Given the description of an element on the screen output the (x, y) to click on. 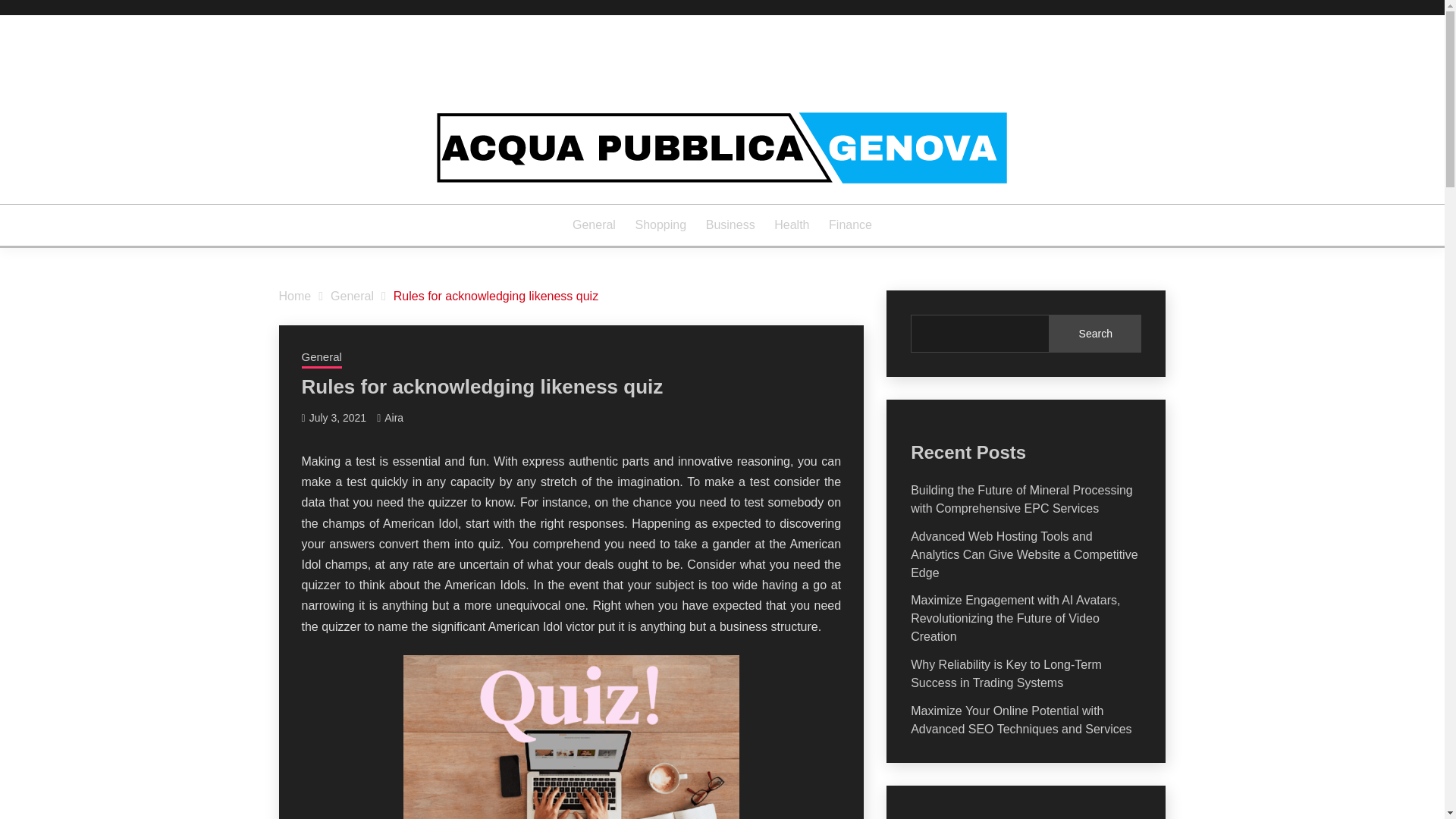
General (321, 358)
July 3, 2021 (337, 417)
General (593, 225)
Home (295, 295)
Shopping (660, 225)
Aira (393, 417)
Finance (850, 225)
Search (1095, 333)
Business (730, 225)
